Given the description of an element on the screen output the (x, y) to click on. 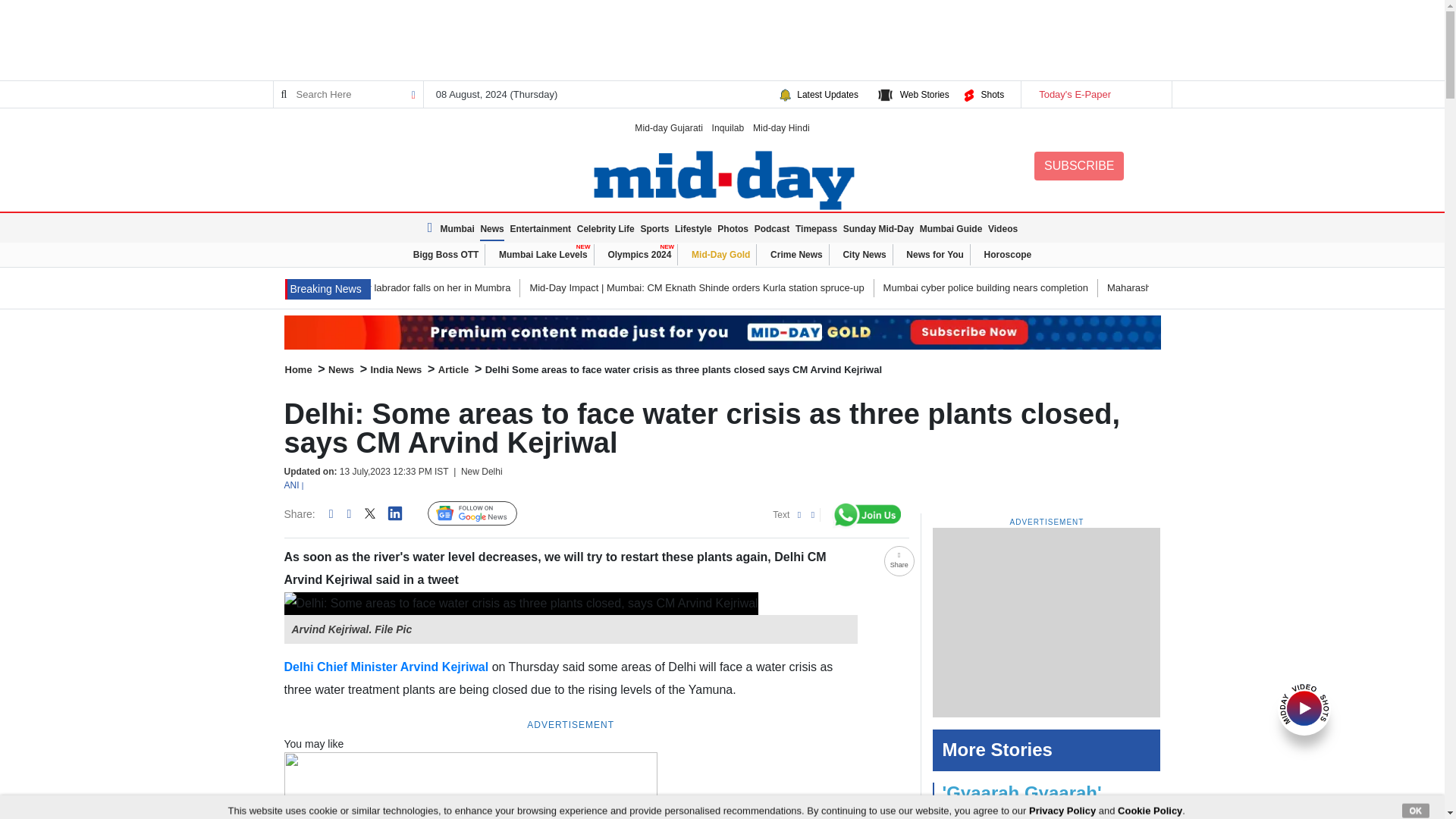
Web Stories (924, 94)
Latest News (432, 227)
Today's E-Paper (1095, 94)
Mid-day Gujarati (668, 127)
Midday Shot Videos (1304, 706)
SUBSCRIBE (1078, 165)
Quick Reads (541, 513)
Shots (991, 94)
Subscription (721, 332)
Latest News (328, 289)
